Given the description of an element on the screen output the (x, y) to click on. 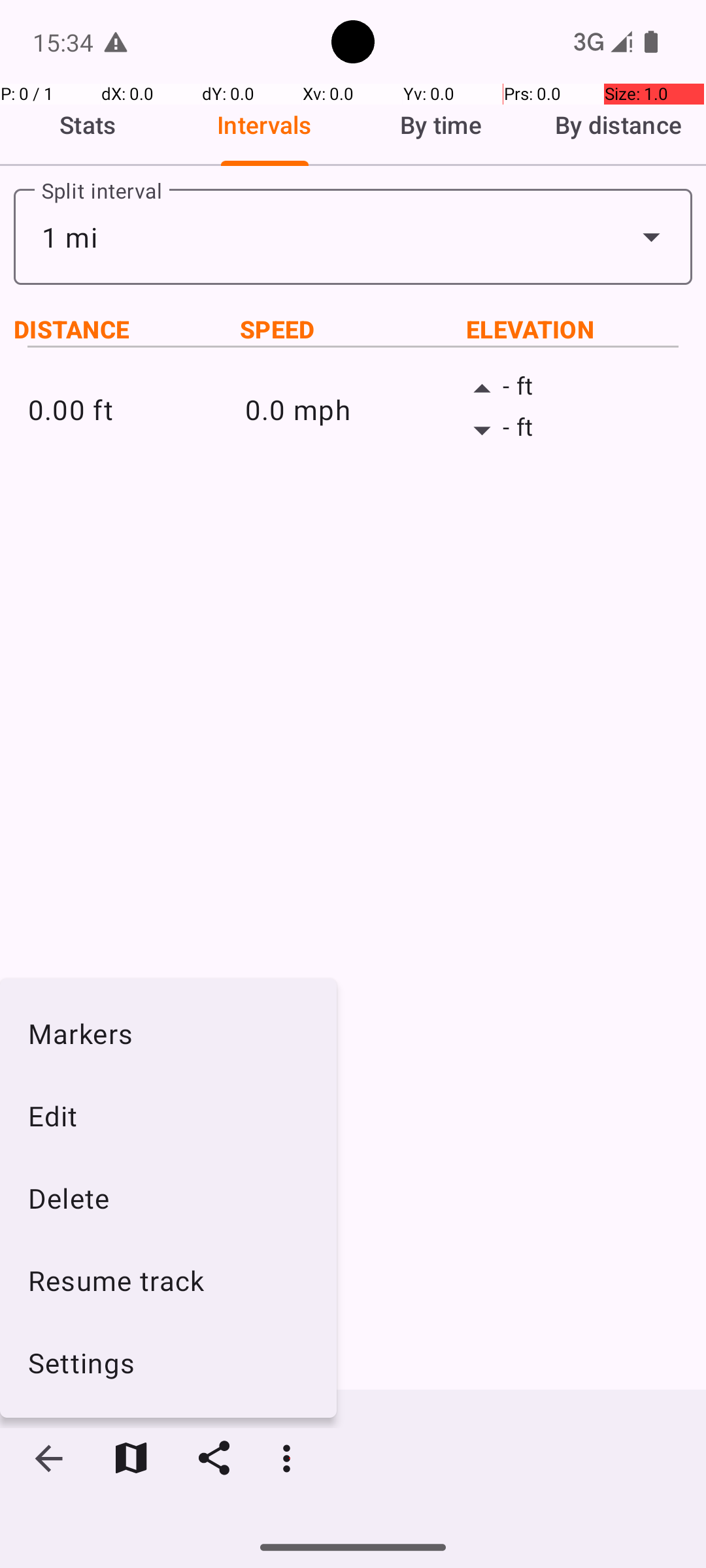
Markers Element type: android.widget.TextView (168, 1032)
Resume track Element type: android.widget.TextView (168, 1279)
